Given the description of an element on the screen output the (x, y) to click on. 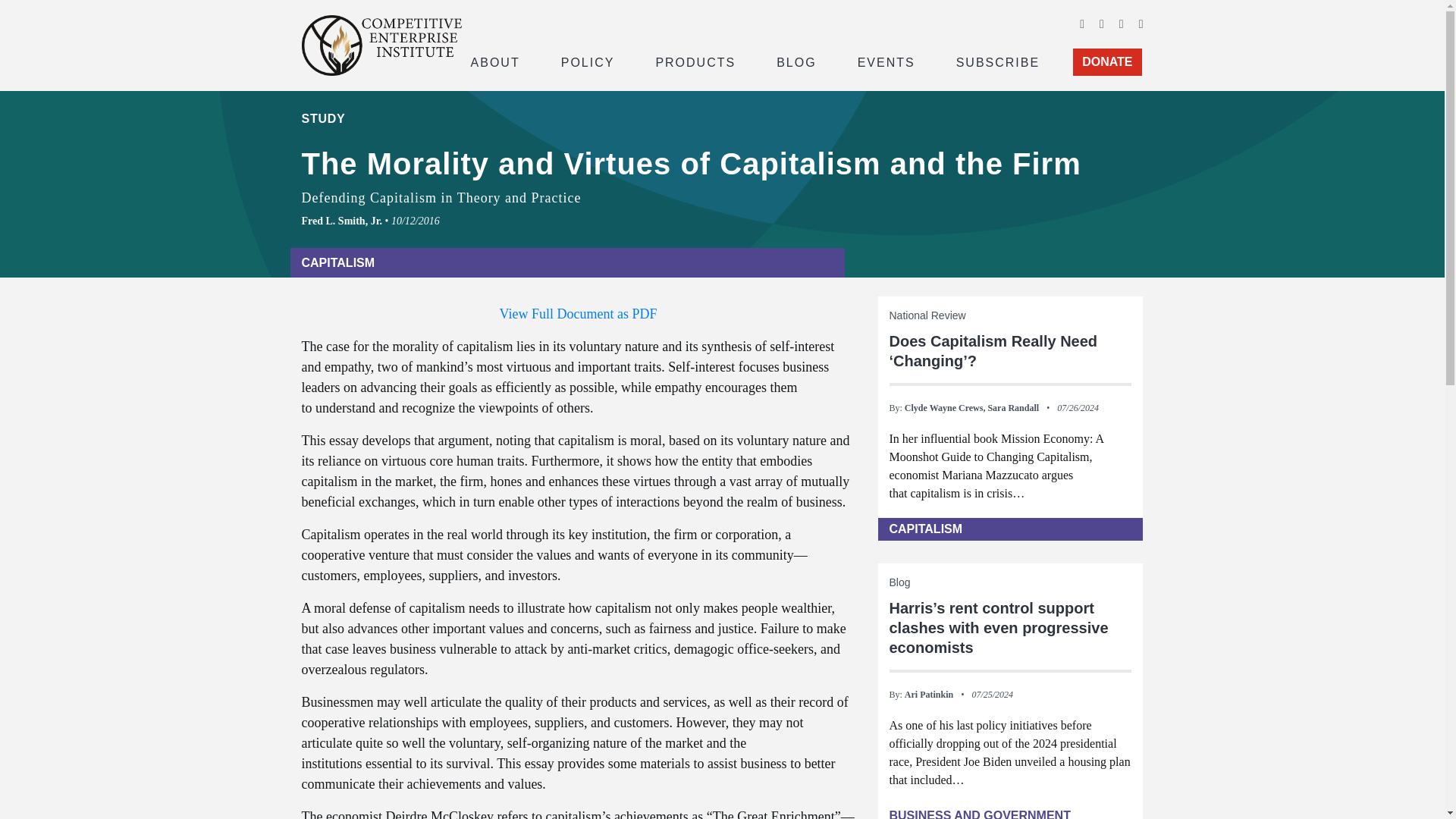
SUBSCRIBE (997, 61)
DONATE (1107, 62)
BLOG (796, 61)
POLICY (588, 61)
ABOUT (495, 61)
PRODUCTS (694, 61)
EVENTS (886, 61)
